Given the description of an element on the screen output the (x, y) to click on. 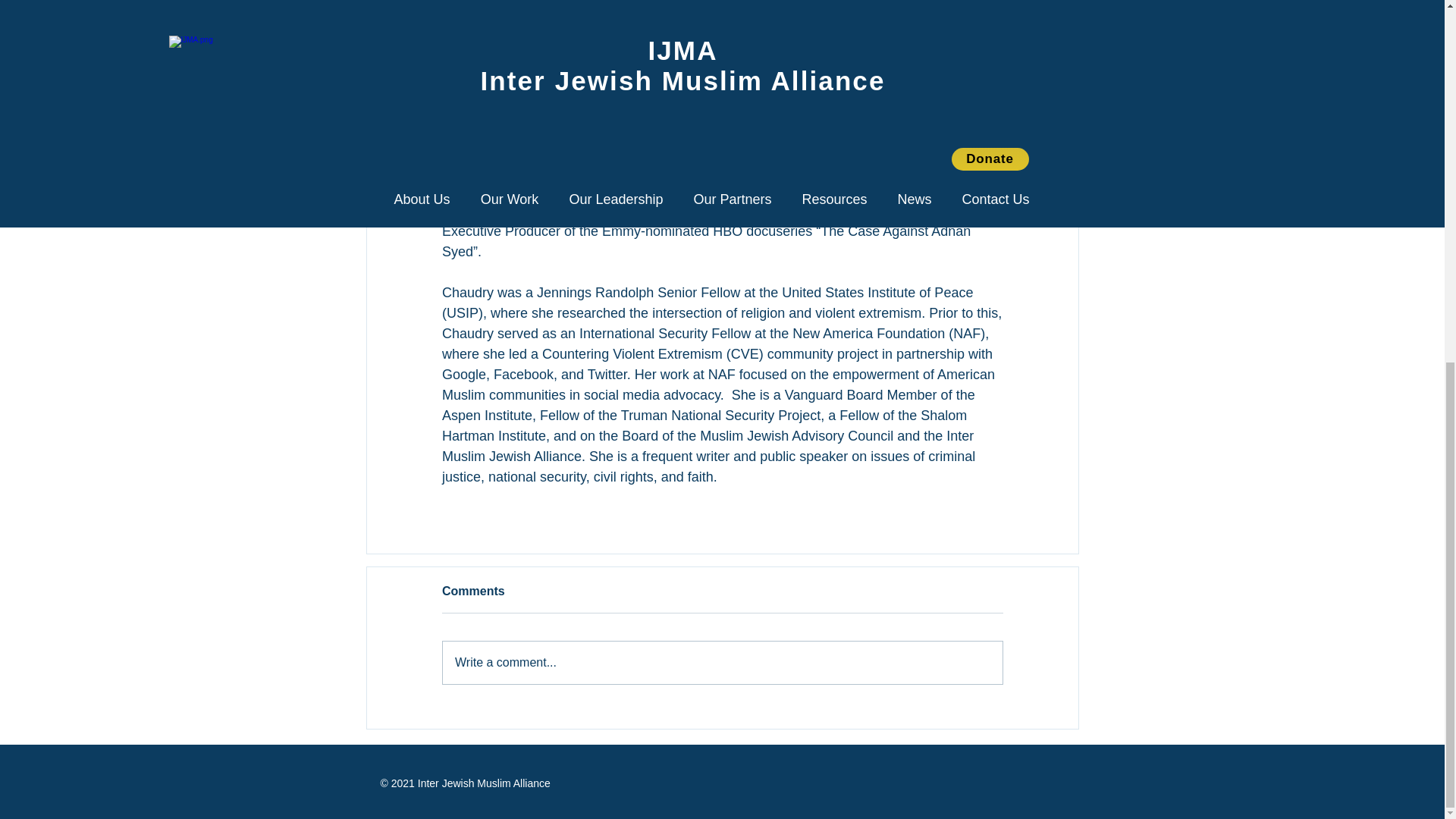
Write a comment... (722, 662)
Undisclosed (530, 190)
